Given the description of an element on the screen output the (x, y) to click on. 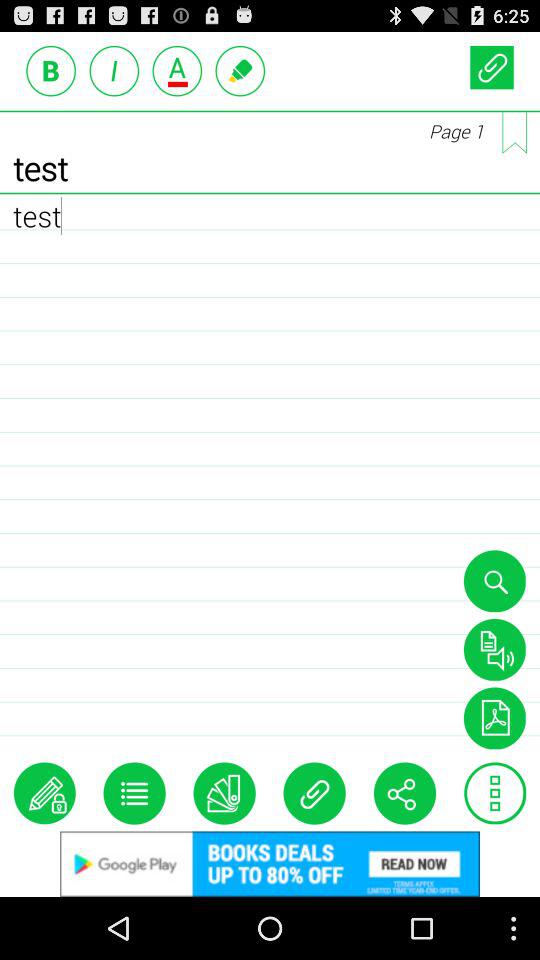
change font (177, 70)
